Given the description of an element on the screen output the (x, y) to click on. 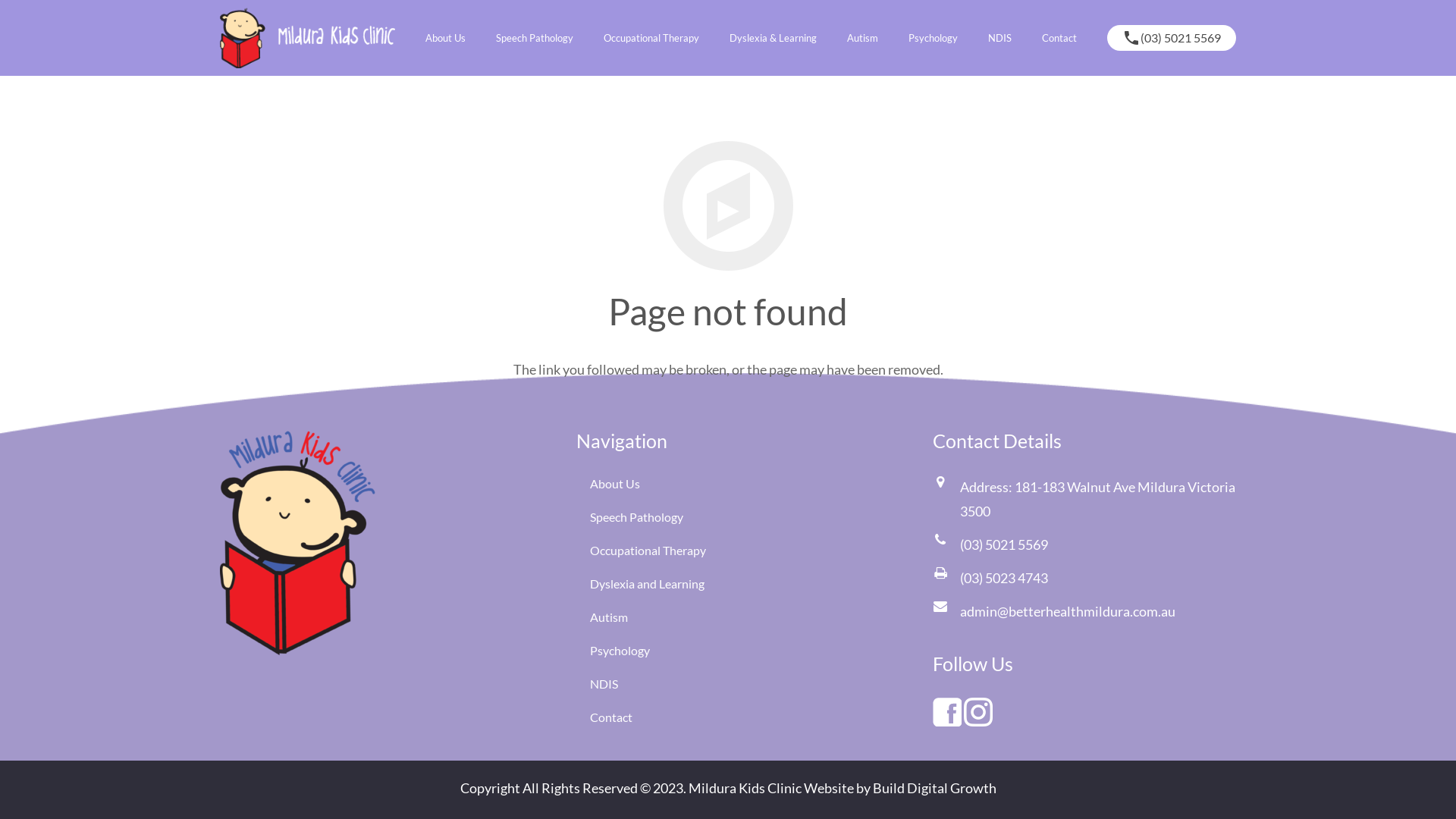
About Us Element type: text (614, 483)
NDIS Element type: text (603, 683)
phone
(03) 5021 5569 Element type: text (1171, 37)
Contact Element type: text (610, 716)
admin@betterhealthmildura.com.au Element type: text (1067, 610)
Occupational Therapy Element type: text (647, 549)
Psychology Element type: text (619, 650)
Autism Element type: text (608, 616)
Psychology Element type: text (932, 37)
Autism Element type: text (862, 37)
Dyslexia and Learning Element type: text (646, 583)
About Us Element type: text (445, 37)
Occupational Therapy Element type: text (651, 37)
NDIS Element type: text (999, 37)
(03) 5021 5569 Element type: text (1004, 544)
Speech Pathology Element type: text (636, 516)
Dyslexia & Learning Element type: text (772, 37)
Contact Element type: text (1059, 37)
Website by Build Digital Growth Element type: text (899, 787)
Speech Pathology Element type: text (534, 37)
